Given the description of an element on the screen output the (x, y) to click on. 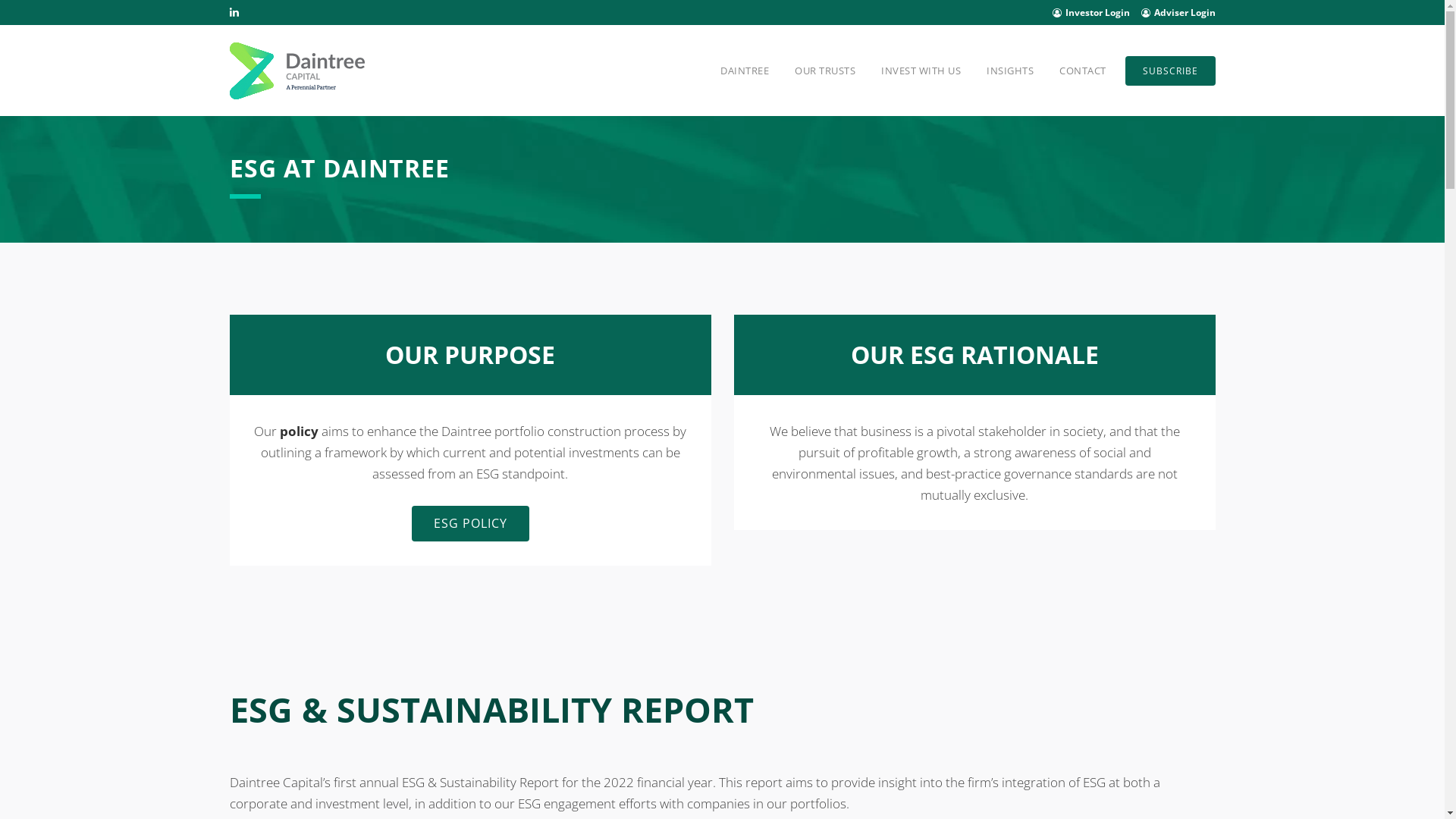
Investor Login Element type: text (1090, 12)
CONTACT Element type: text (1082, 70)
OUR TRUSTS Element type: text (824, 70)
INVEST WITH US Element type: text (920, 70)
ESG POLICY Element type: text (469, 523)
policy Element type: text (298, 430)
SUBSCRIBE Element type: text (1167, 69)
INSIGHTS Element type: text (1009, 70)
Adviser Login Element type: text (1177, 12)
DAINTREE Element type: text (744, 70)
